Given the description of an element on the screen output the (x, y) to click on. 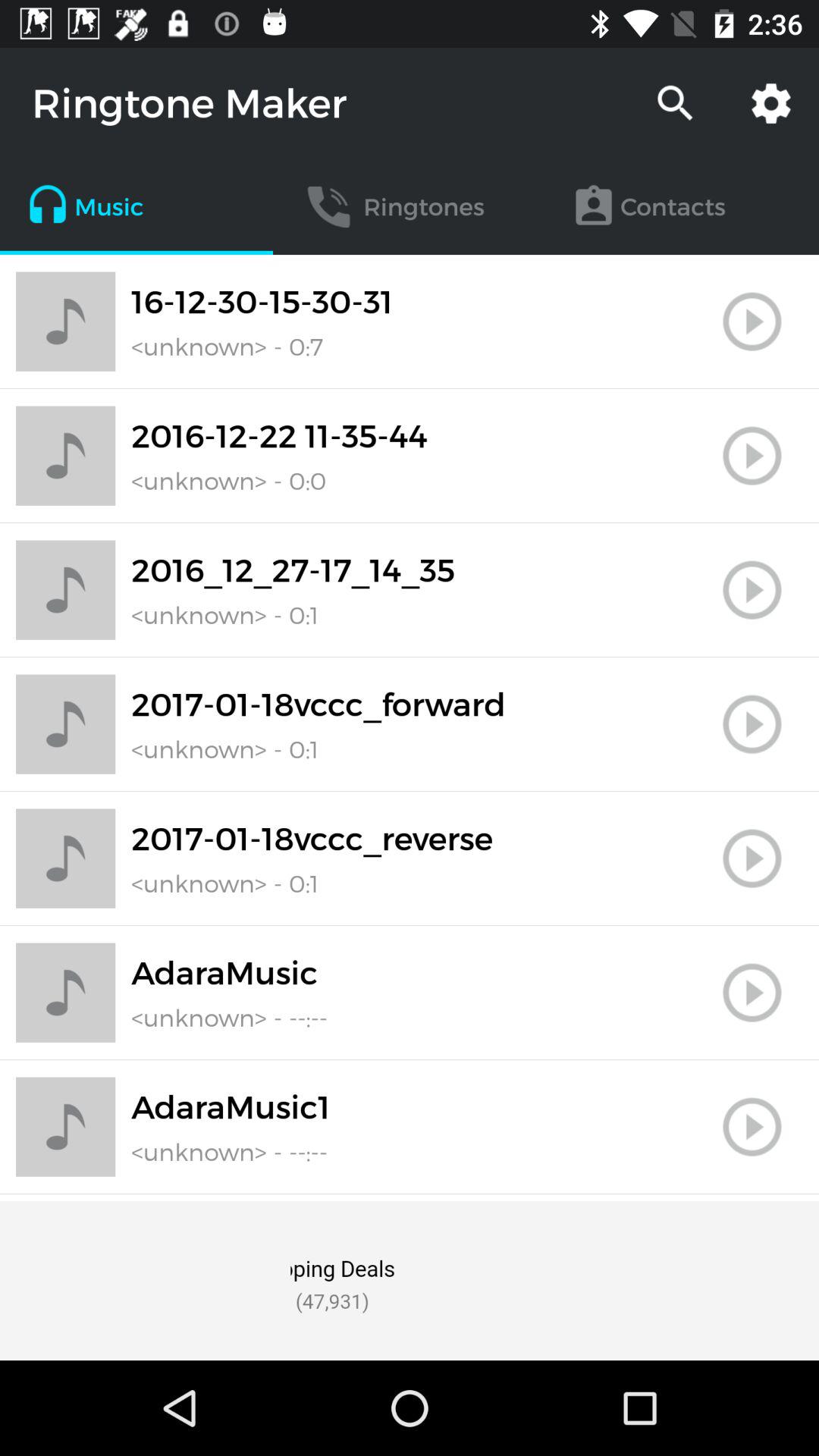
tap to play (752, 455)
